Given the description of an element on the screen output the (x, y) to click on. 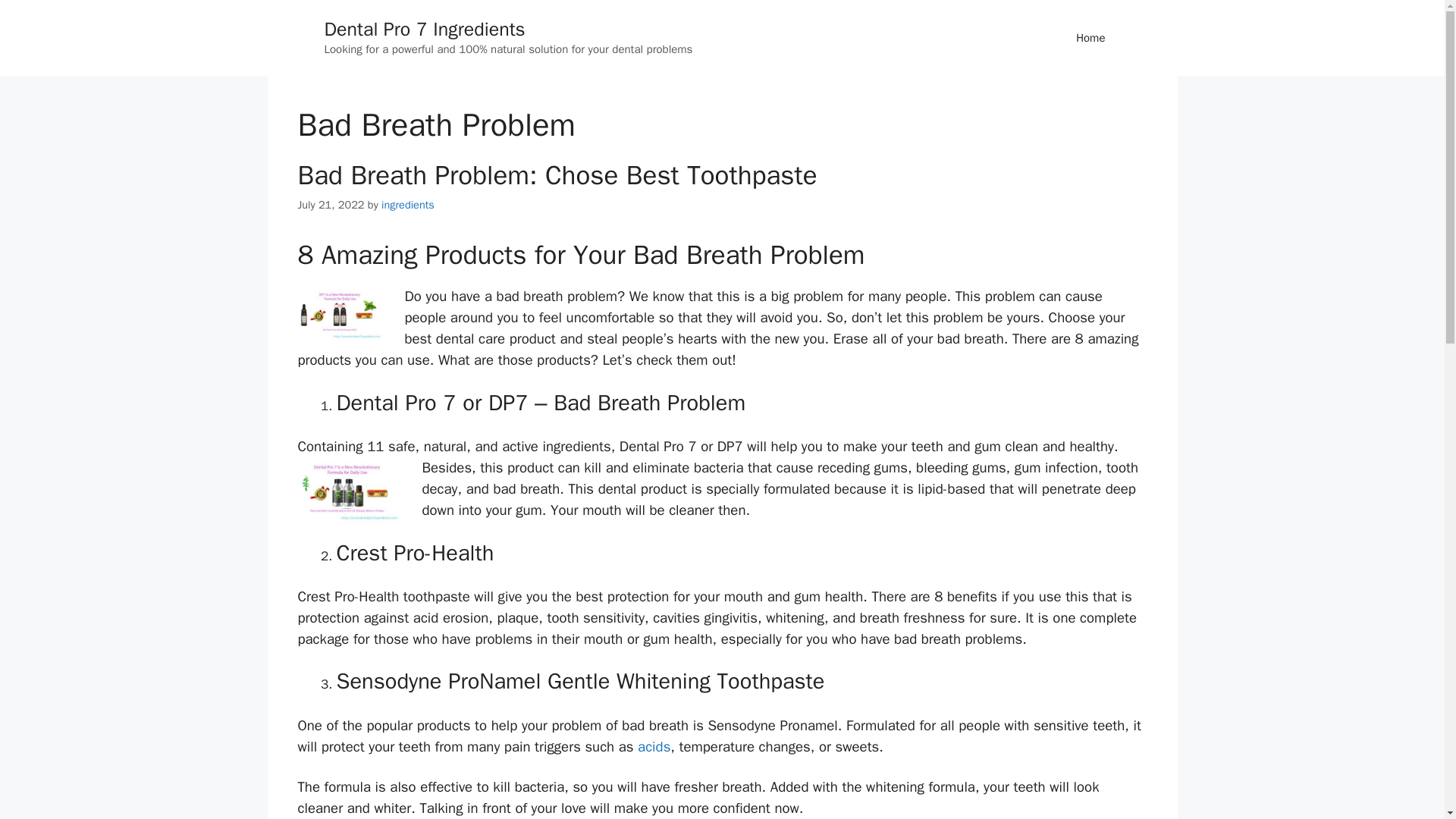
Bad Breath Problem: Chose Best Toothpaste 2 (348, 489)
Bad Breath Problem: Chose Best Toothpaste (556, 174)
Dental Pro 7 Ingredients (424, 28)
View all posts by ingredients (407, 204)
ingredients (407, 204)
Home (1090, 37)
Bad Breath Problem: Chose Best Toothpaste 1 (339, 312)
acids (653, 746)
